Given the description of an element on the screen output the (x, y) to click on. 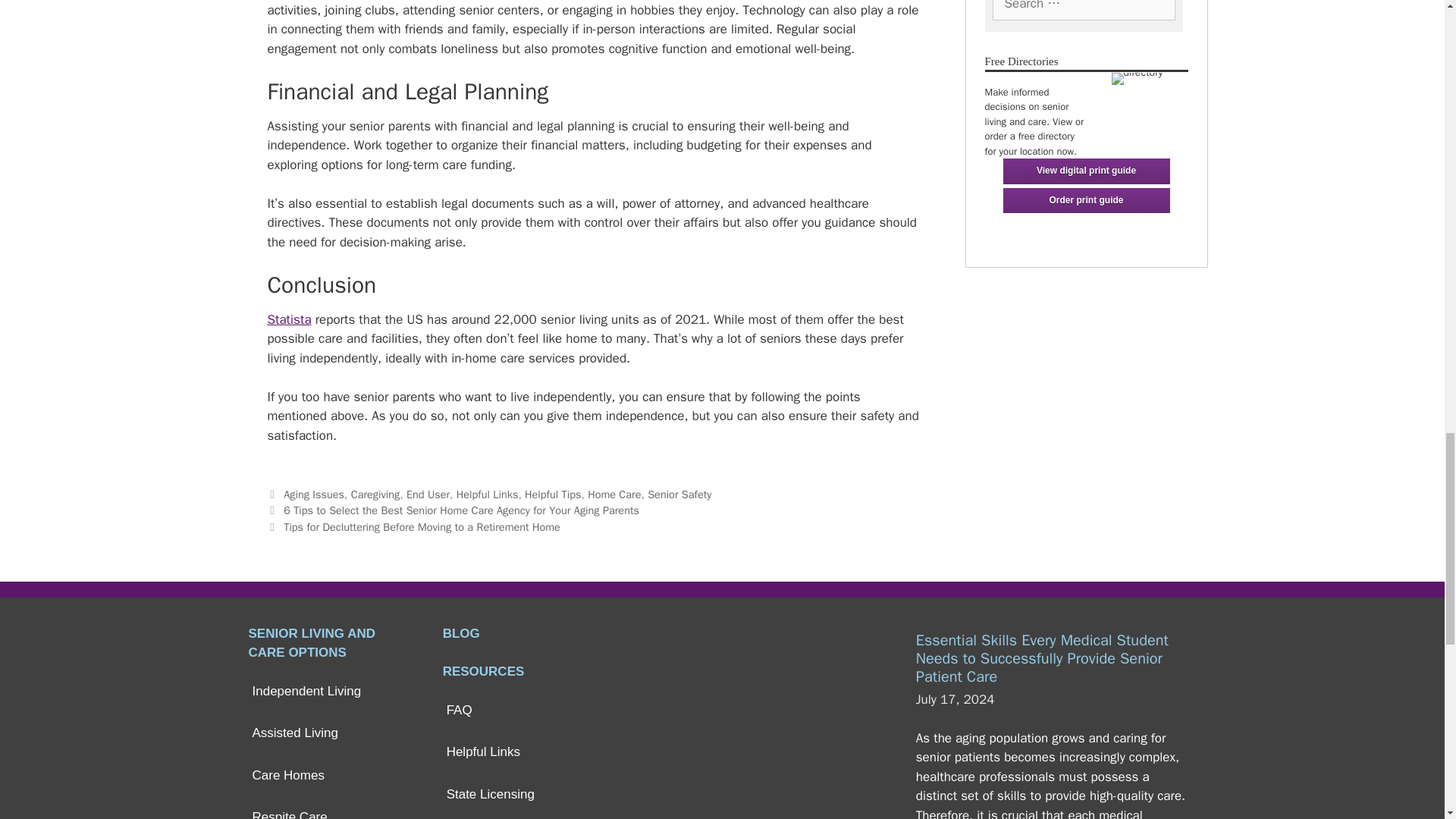
Next (412, 526)
directory (1137, 78)
Search for: (1082, 10)
Previous (452, 509)
